Given the description of an element on the screen output the (x, y) to click on. 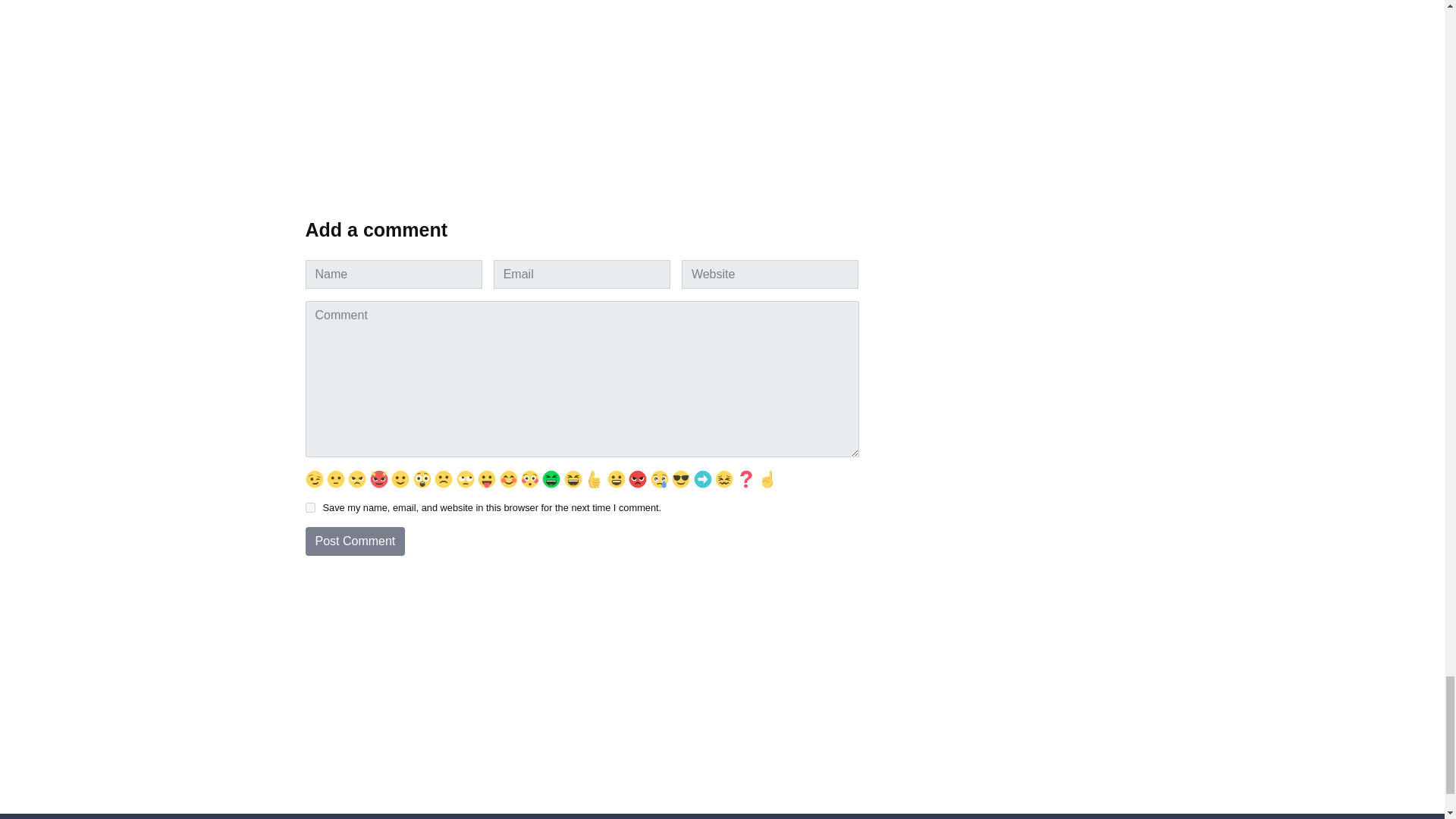
yes (309, 507)
Post Comment (354, 541)
Post Comment (354, 541)
